Given the description of an element on the screen output the (x, y) to click on. 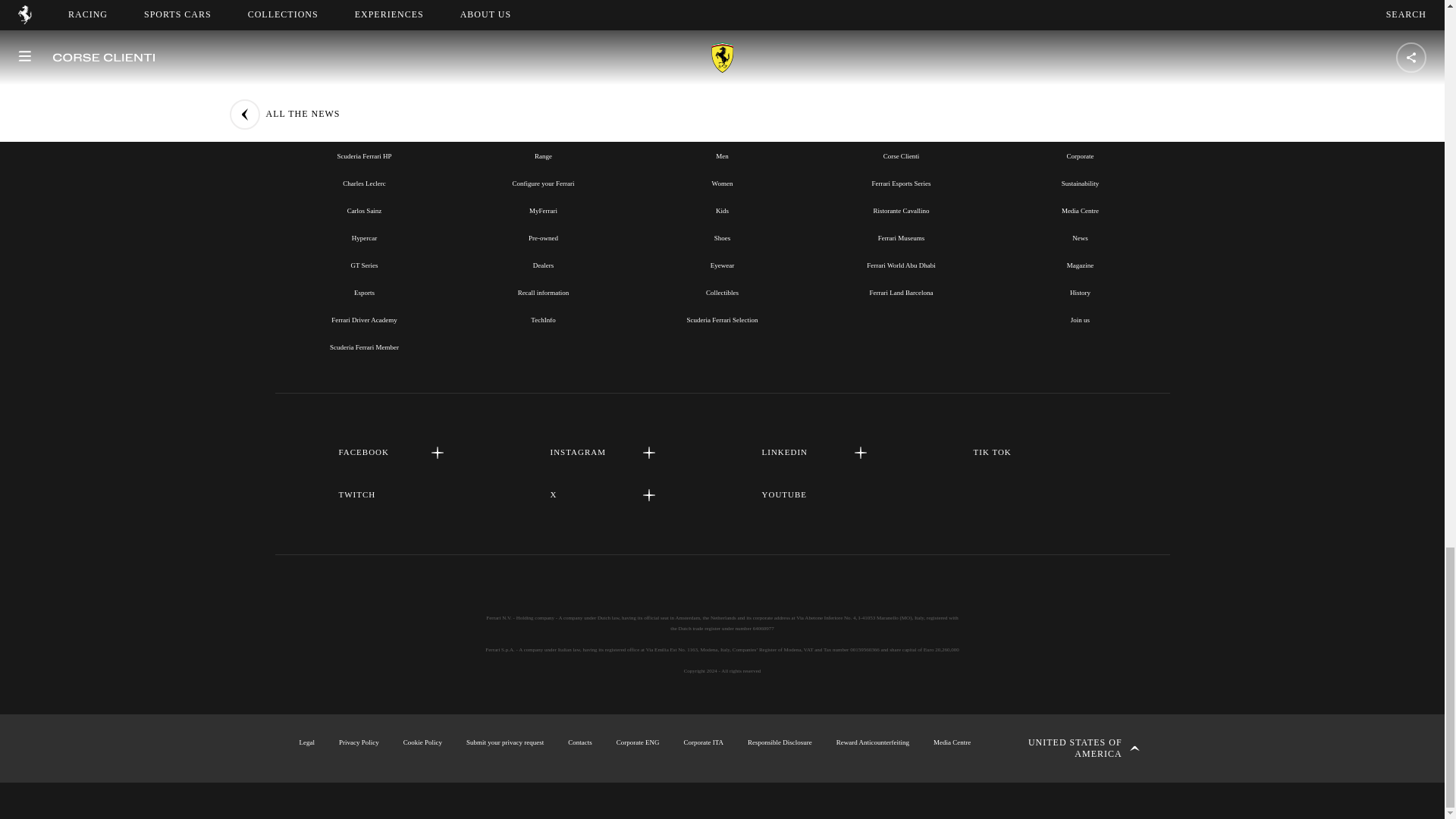
Carlos Sainz (364, 210)
SPORTS CARS (542, 121)
Esports (363, 292)
Scuderia Ferrari Member (364, 347)
Men (722, 155)
RACING (363, 121)
Recall information (543, 292)
Ferrari Driver Academy (363, 319)
SUBSCRIBE (721, 2)
GT Series (363, 265)
Change country (1072, 748)
Charles Leclerc (363, 183)
COLLECTIONS (721, 121)
Hypercar (364, 237)
COLLECTIONS (721, 121)
